Given the description of an element on the screen output the (x, y) to click on. 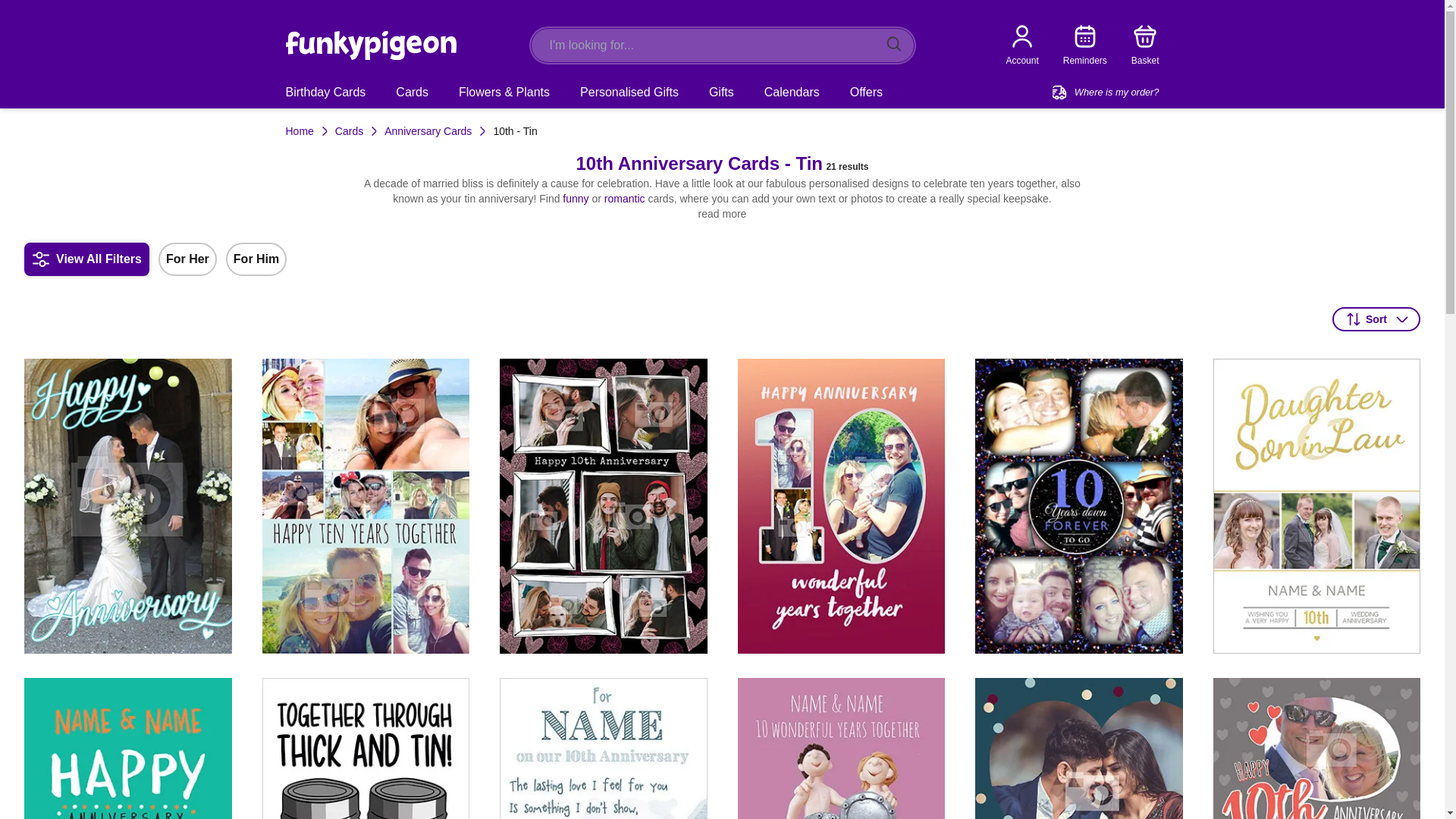
Emotional Rescue - Anniversary Card 10th Anniversary (603, 748)
Anniversary Card - Rock, Paper, Awesome (722, 260)
Thick and Tin 10th Anniversary Card (127, 748)
10 Years - Tin Anniversary Personalised Card (366, 748)
10th  Anniversary Aluminium photo Card (840, 748)
10th Anniversary Photo Card (1316, 748)
Birthday Cards (1078, 748)
